Given the description of an element on the screen output the (x, y) to click on. 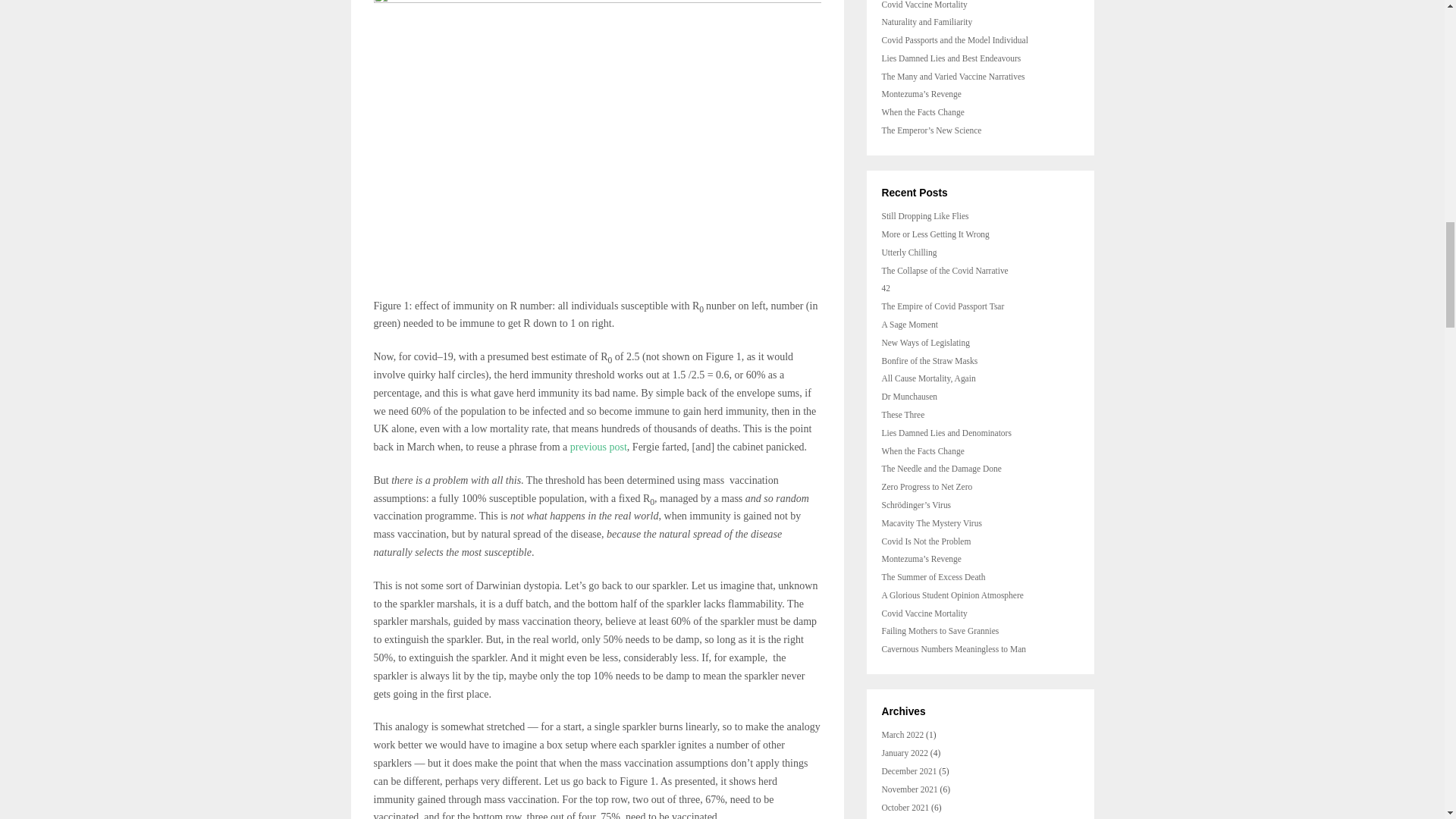
previous post (598, 446)
Covid Passports and the Model Individual (953, 40)
Covid Vaccine Mortality (923, 4)
Naturality and Familiarity (926, 21)
